Given the description of an element on the screen output the (x, y) to click on. 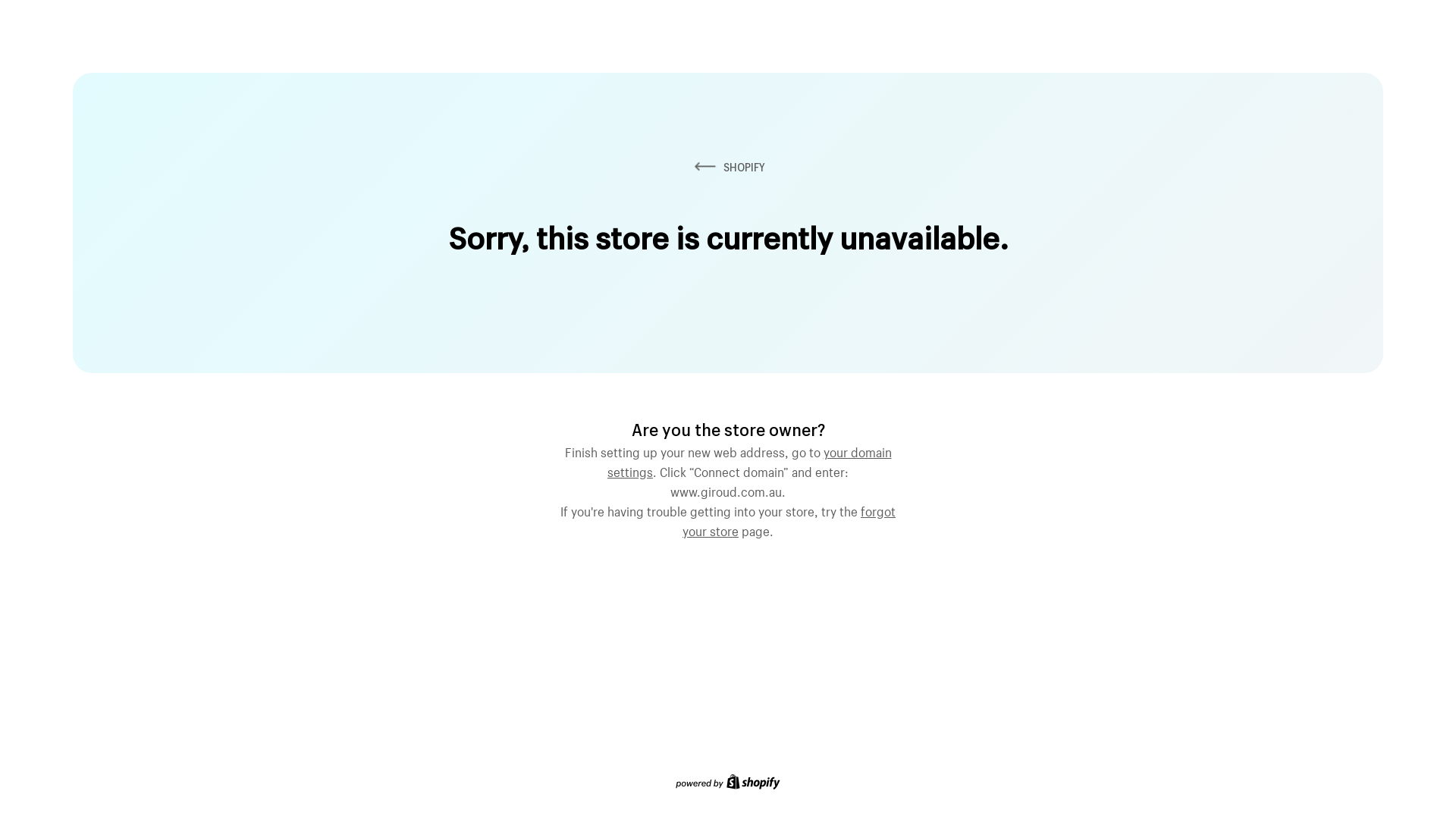
your domain settings Element type: text (749, 460)
forgot your store Element type: text (788, 519)
SHOPIFY Element type: text (727, 167)
